Given the description of an element on the screen output the (x, y) to click on. 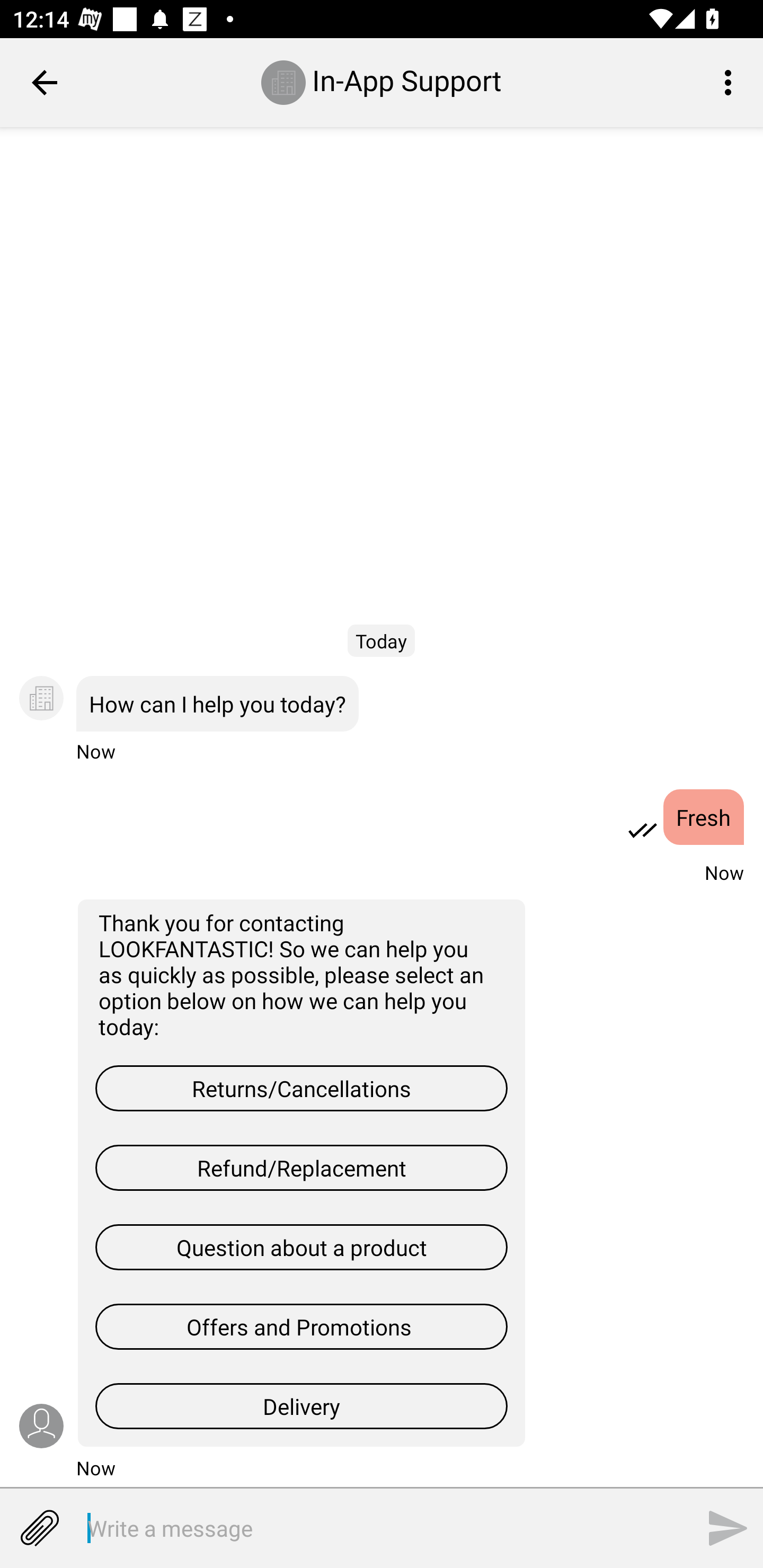
Navigate up (44, 82)
More options (731, 81)
You: Fresh, , Now Read Fresh Now (381, 830)
Fresh (703, 816)
Refund/Replacement, Button Refund/Replacement (301, 1167)
Delivery, Button Delivery (301, 1406)
Attachment menu button collapsed (39, 1528)
SEND (727, 1528)
Write a message (357, 1527)
